Given the description of an element on the screen output the (x, y) to click on. 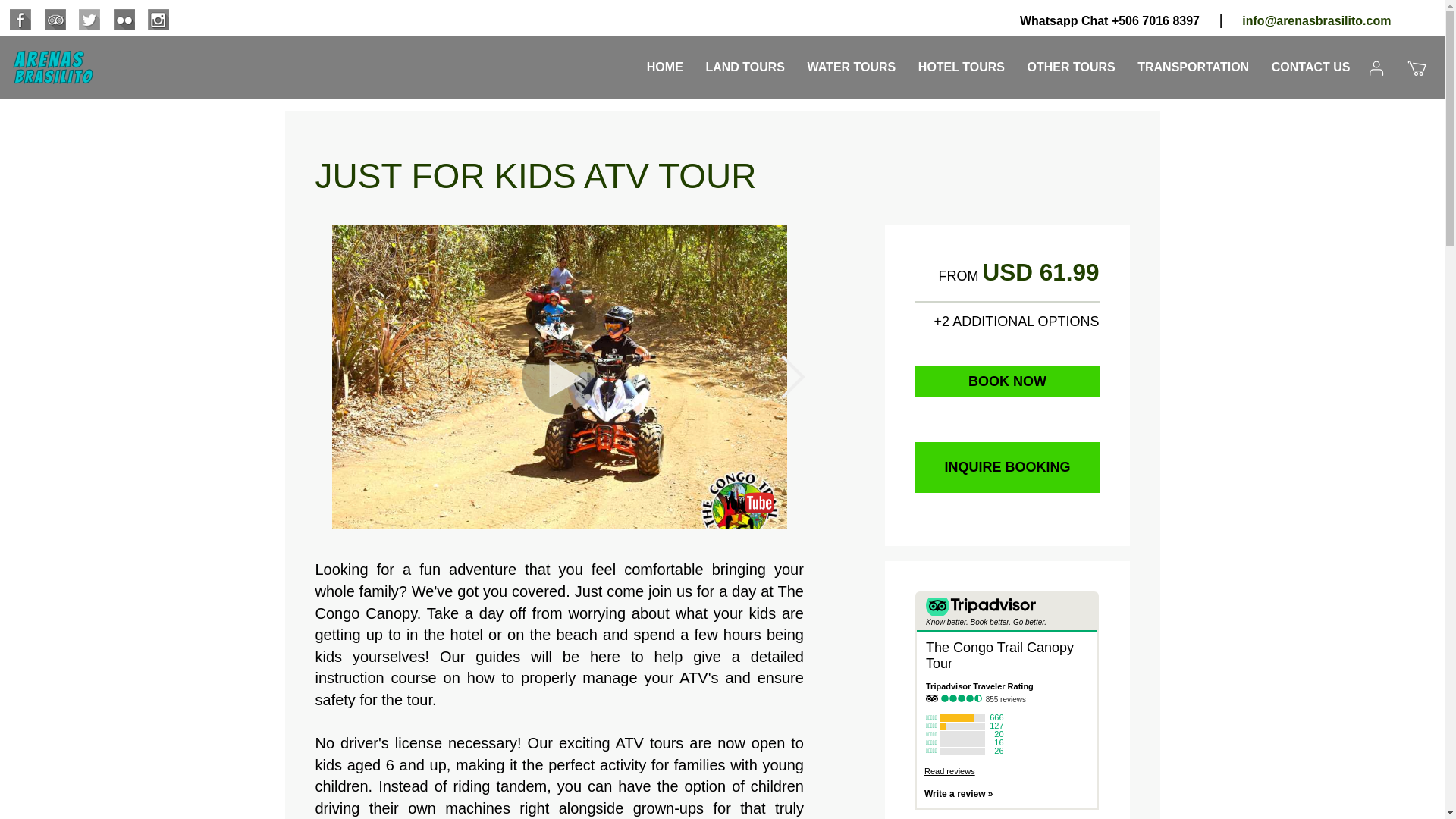
WATER TOURS (851, 60)
LAND TOURS (744, 60)
HOTEL TOURS (960, 60)
OTHER TOURS (1070, 60)
HOME (665, 60)
